Given the description of an element on the screen output the (x, y) to click on. 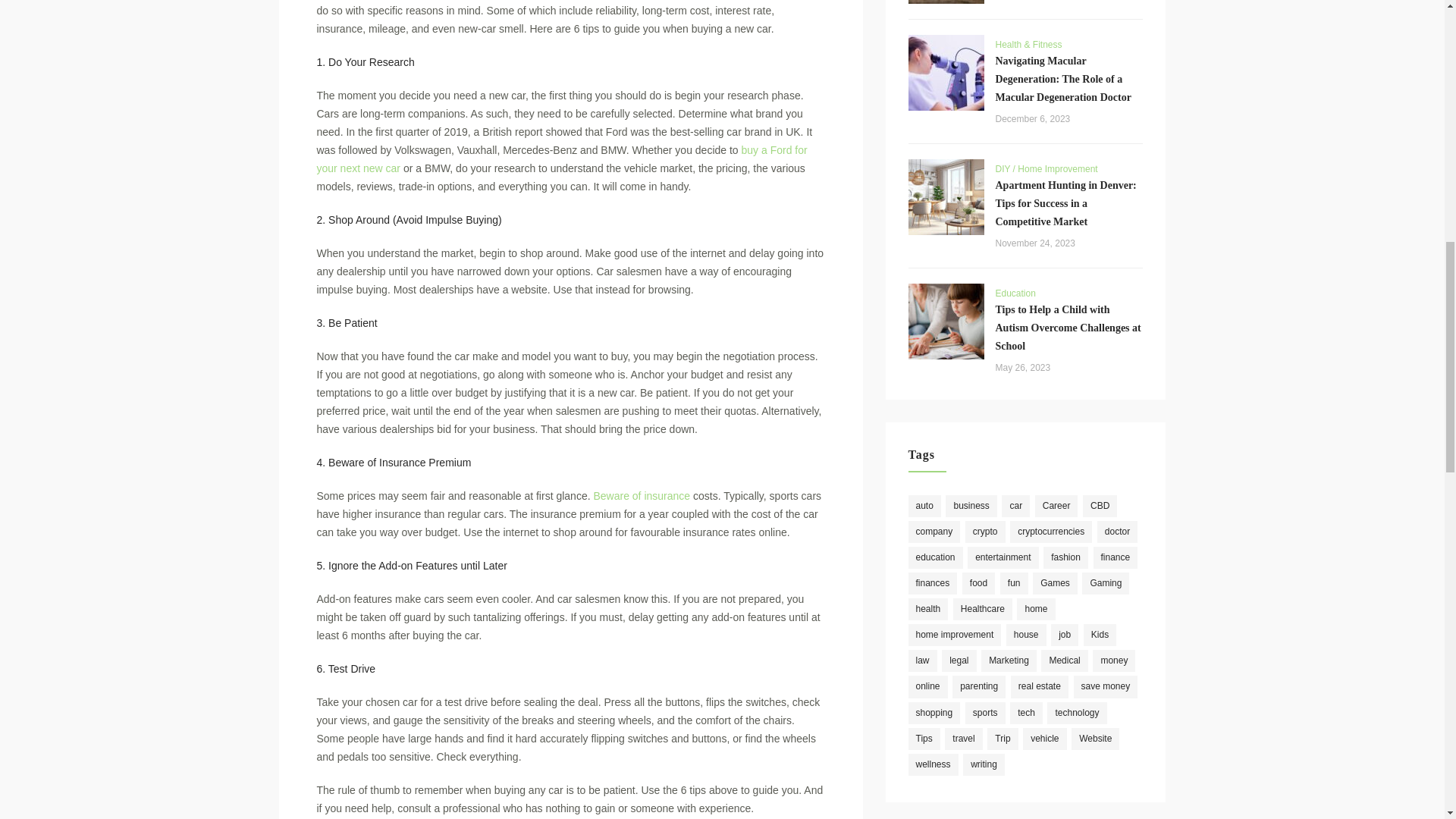
Beware of insurance (641, 495)
buy a Ford for your next new car (562, 159)
